Given the description of an element on the screen output the (x, y) to click on. 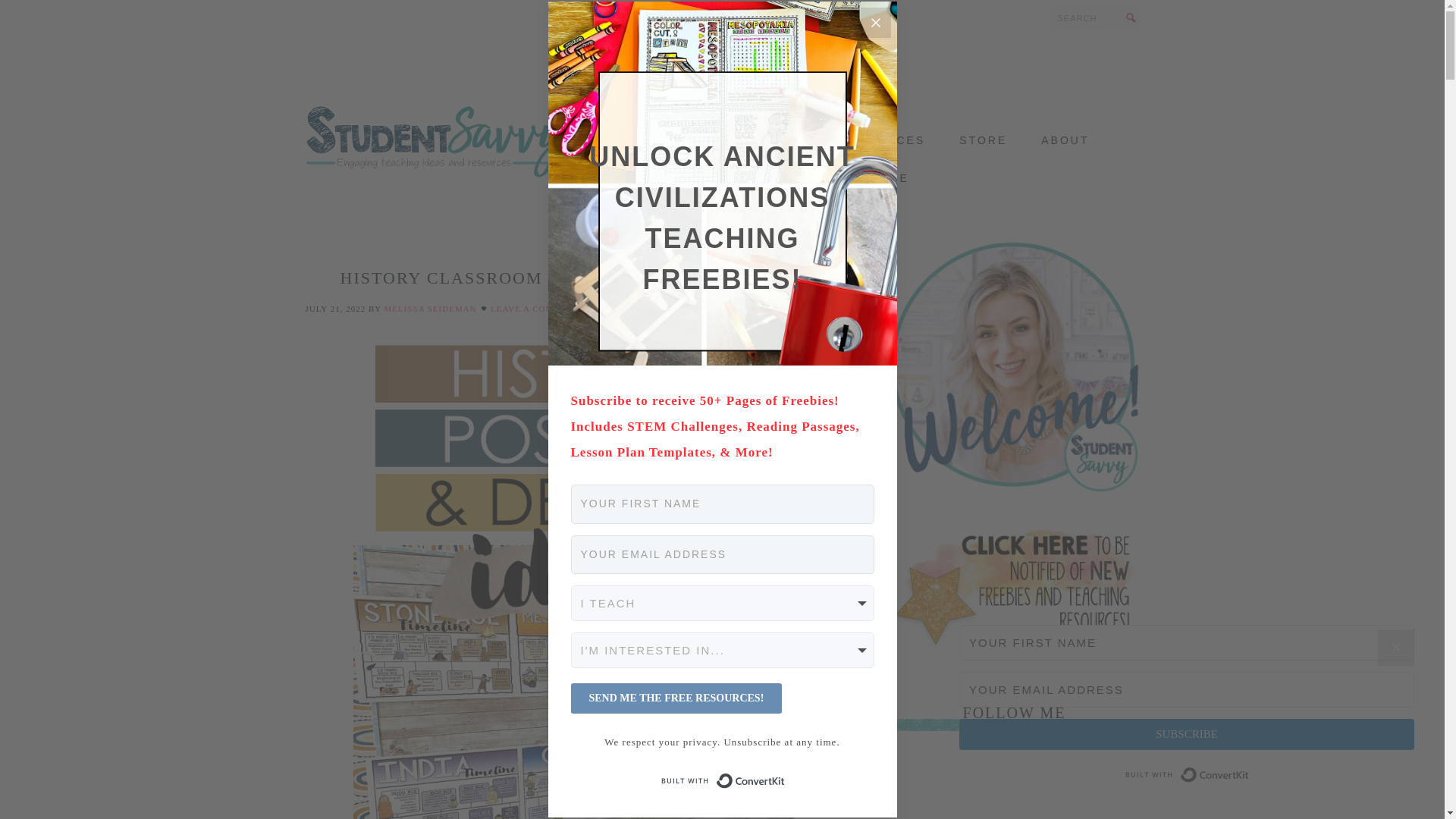
LEAVE A COMMENT (534, 307)
STORE (982, 139)
FREE RESOURCES (859, 139)
BLOG (741, 139)
SUBSCRIBE (868, 177)
STUDENT SAVVY (437, 113)
ABOUT (1064, 139)
HOME (667, 139)
MELISSA SEIDEMAN (430, 307)
